Given the description of an element on the screen output the (x, y) to click on. 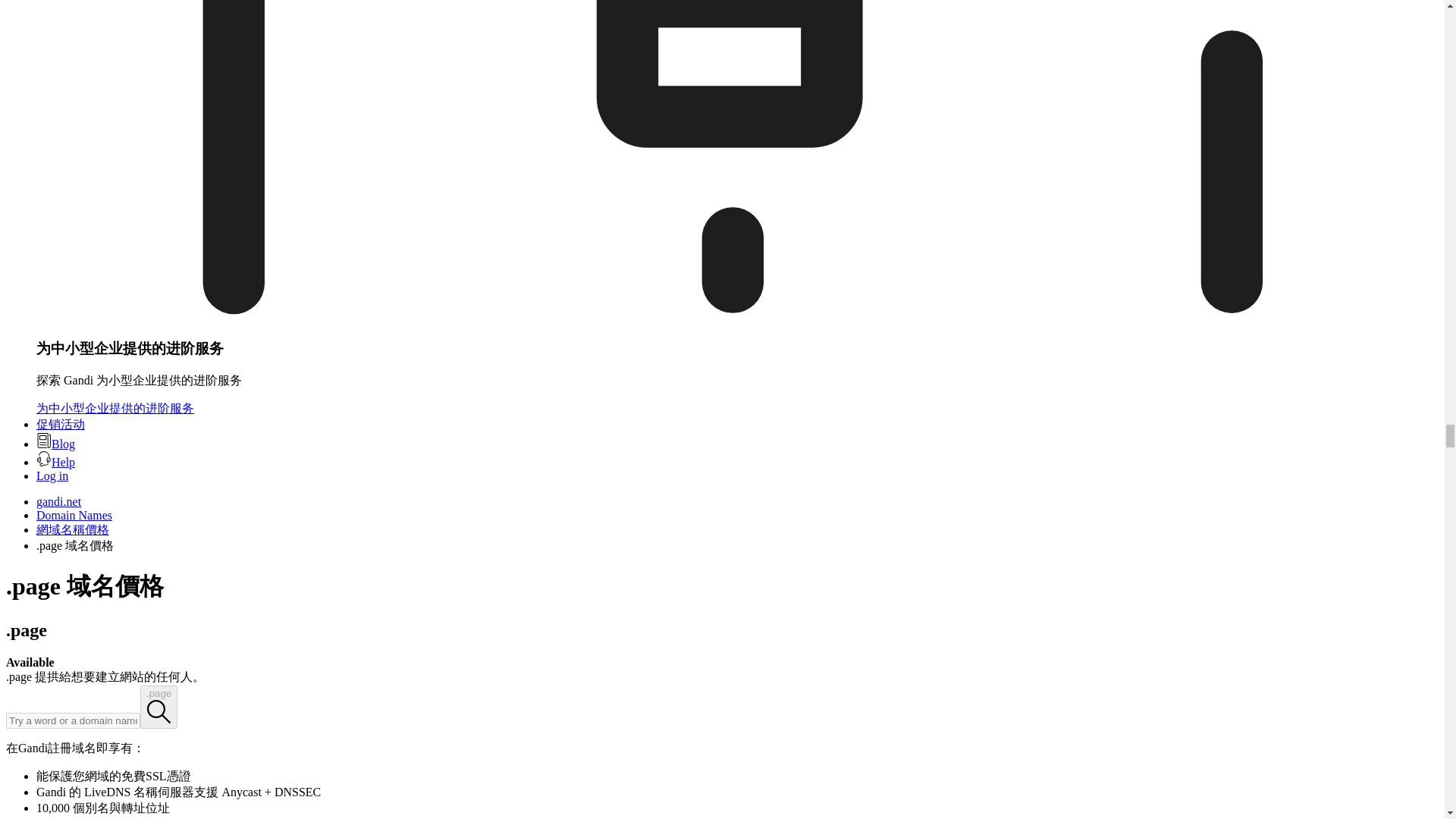
Log in (52, 475)
Help (55, 461)
Blog (55, 443)
gandi.net (58, 501)
Domain Names (74, 514)
